Given the description of an element on the screen output the (x, y) to click on. 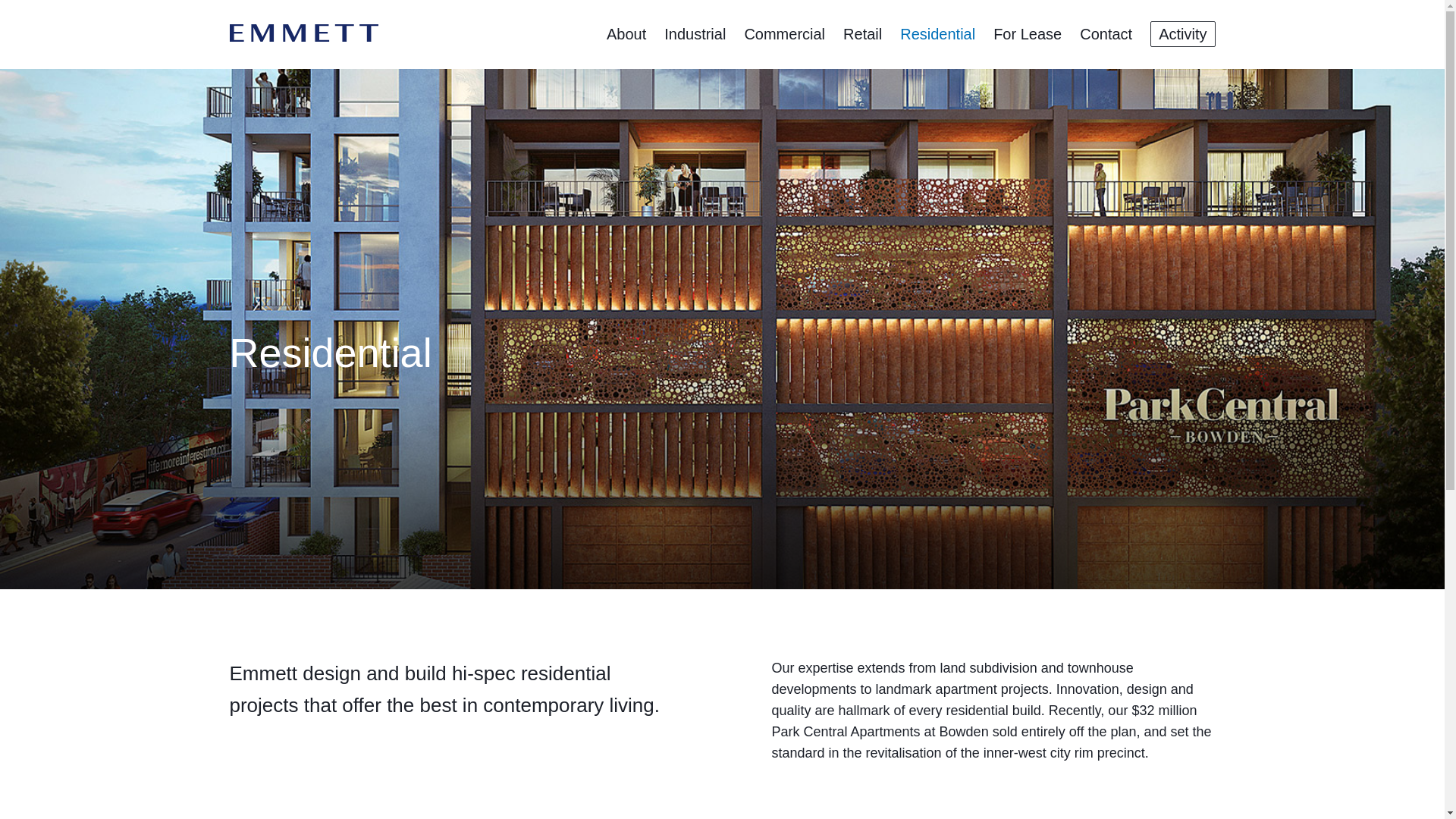
Industrial Element type: text (694, 33)
Retail Element type: text (862, 33)
Contact Element type: text (1105, 33)
For Lease Element type: text (1027, 33)
About Element type: text (626, 33)
Activity Element type: text (1182, 34)
Residential Element type: text (937, 33)
Commercial Element type: text (784, 33)
